Given the description of an element on the screen output the (x, y) to click on. 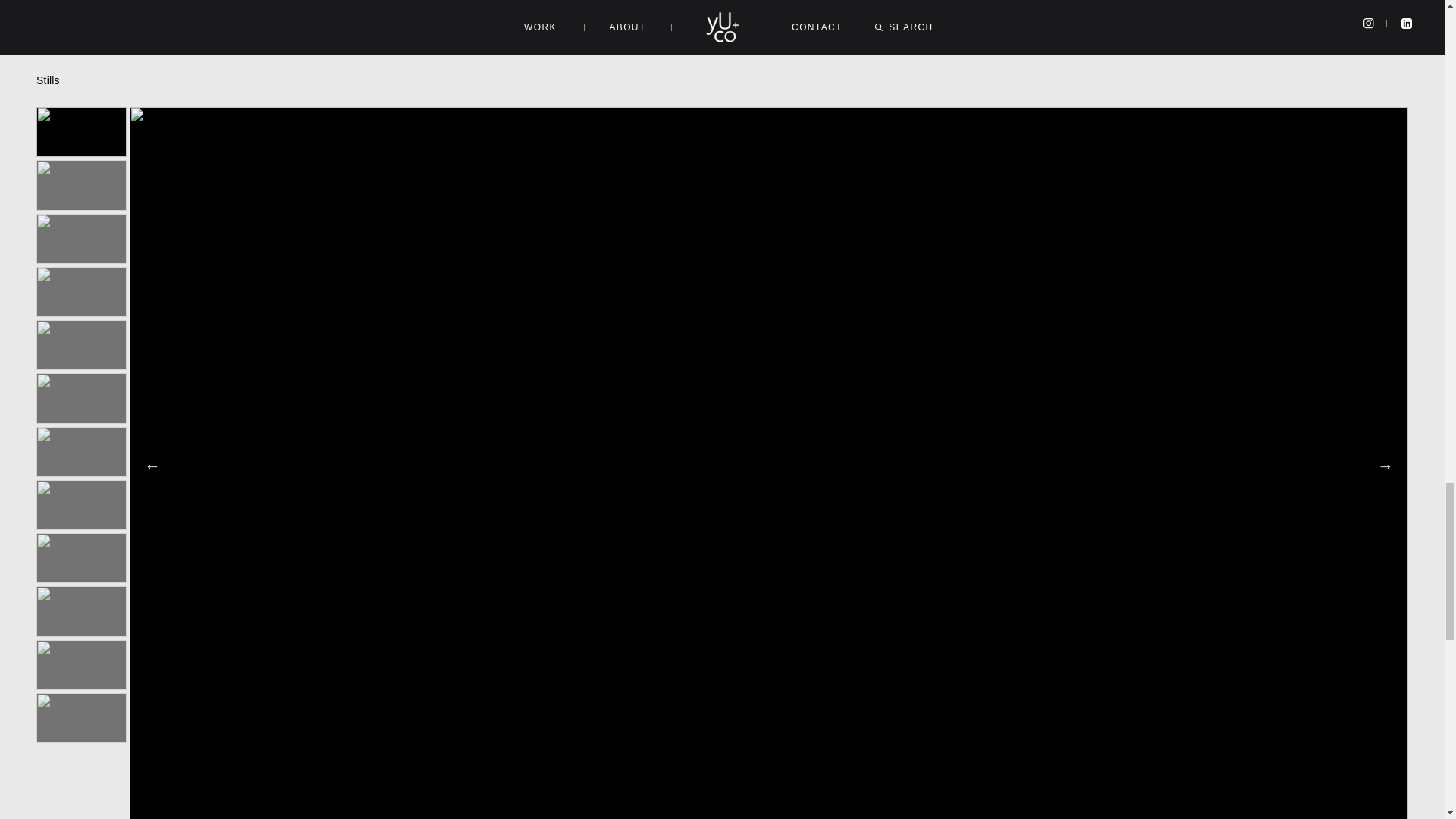
S 09 (81, 558)
S 01 (81, 132)
S 010 (81, 611)
S 02 (81, 184)
S 07 (81, 451)
S 08 (81, 504)
S 011 (81, 664)
S 04 (81, 291)
S 05 (81, 345)
S 012 (81, 717)
S 03 (81, 238)
S 06 (81, 398)
